Given the description of an element on the screen output the (x, y) to click on. 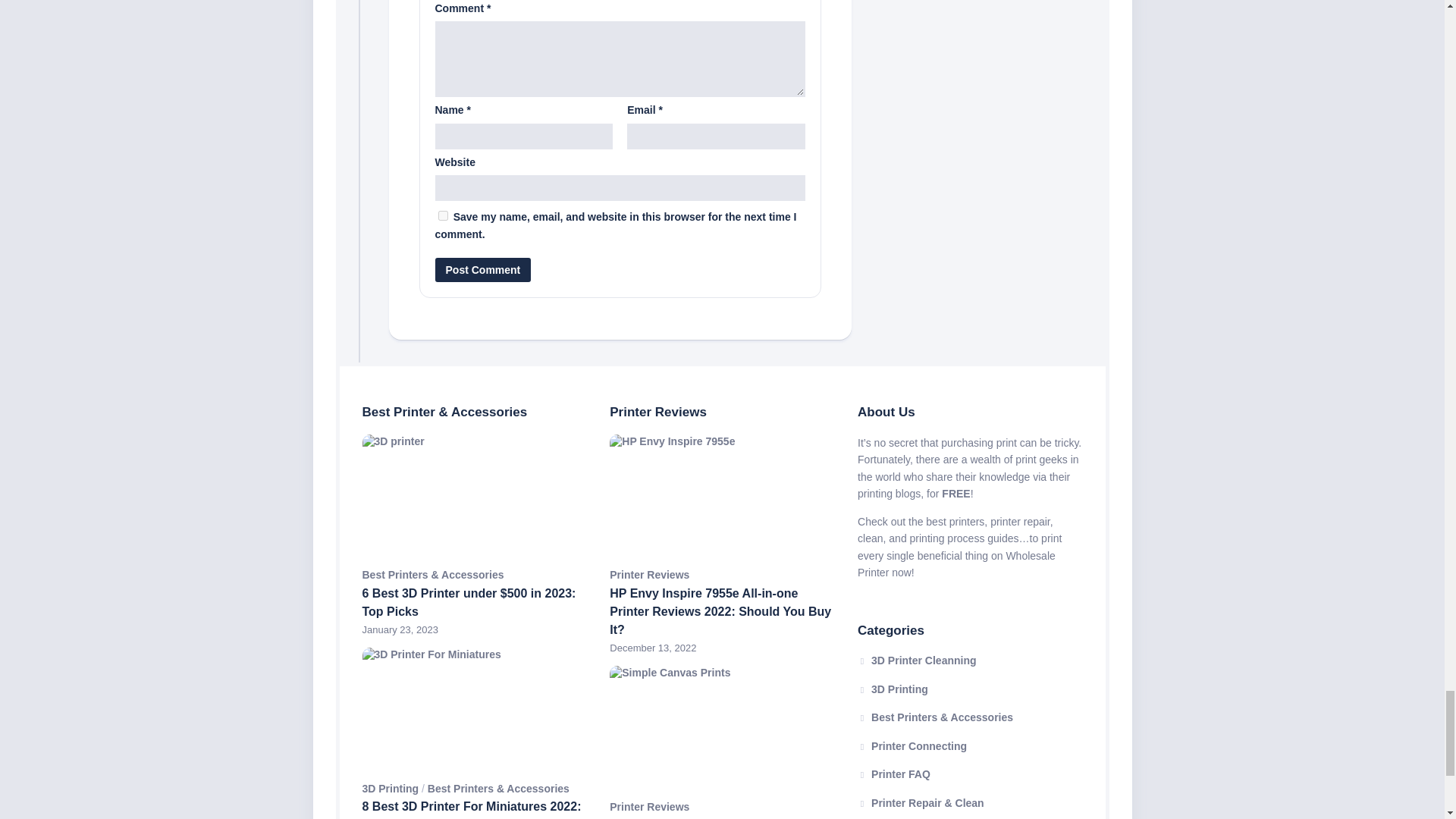
yes (443, 215)
Post Comment (483, 269)
